Given the description of an element on the screen output the (x, y) to click on. 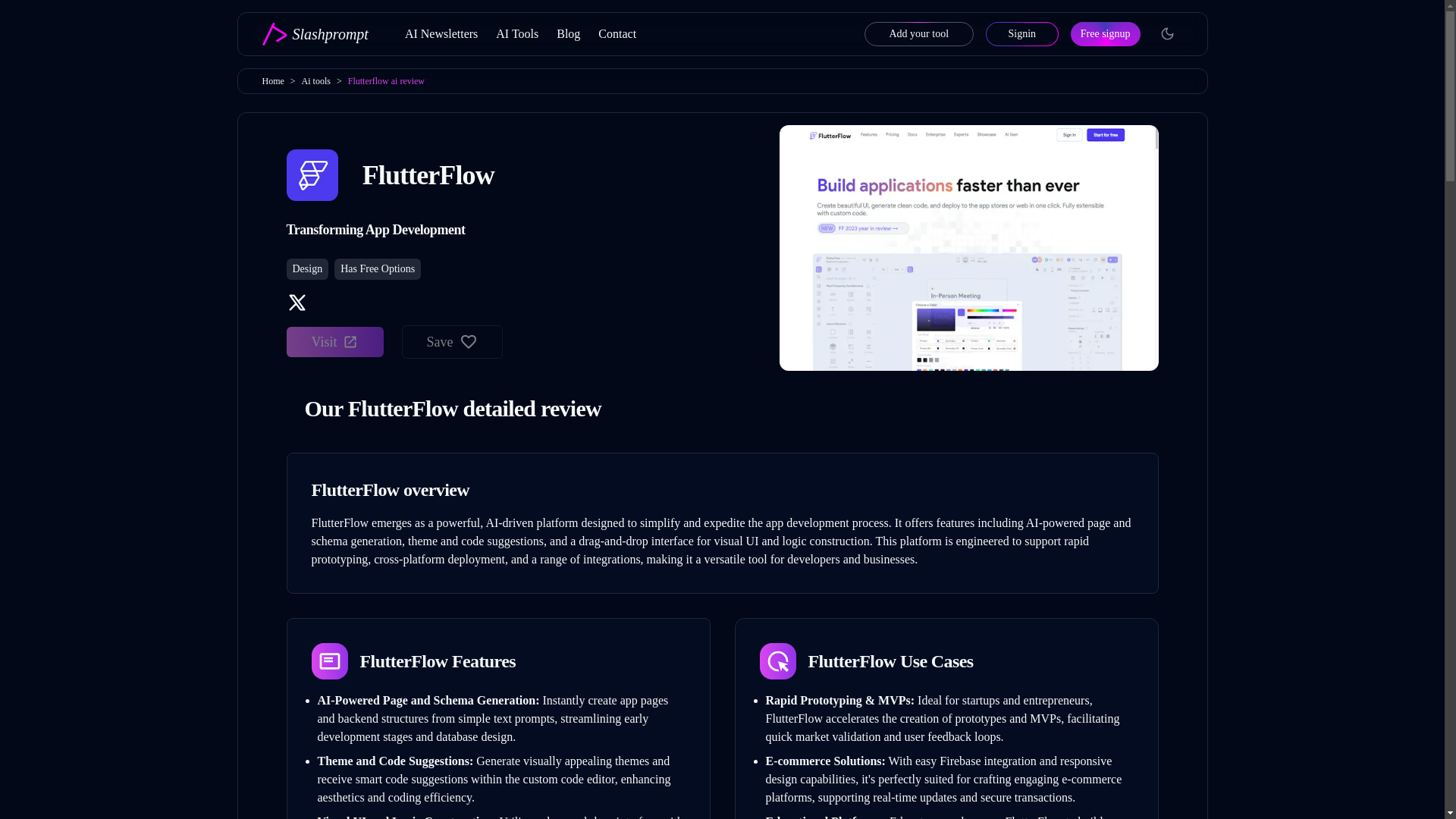
Slashprompt (302, 33)
Design (307, 269)
Free signup (1105, 33)
Contact (617, 34)
Blog (567, 34)
AI Newsletters (440, 34)
Home (272, 81)
Slashprompt (302, 33)
Add your tool (919, 33)
Blog (567, 34)
Visit (335, 341)
Save (451, 341)
Our FlutterFlow detailed review (722, 411)
AI Tools (517, 34)
Toggle theme (1167, 33)
